Given the description of an element on the screen output the (x, y) to click on. 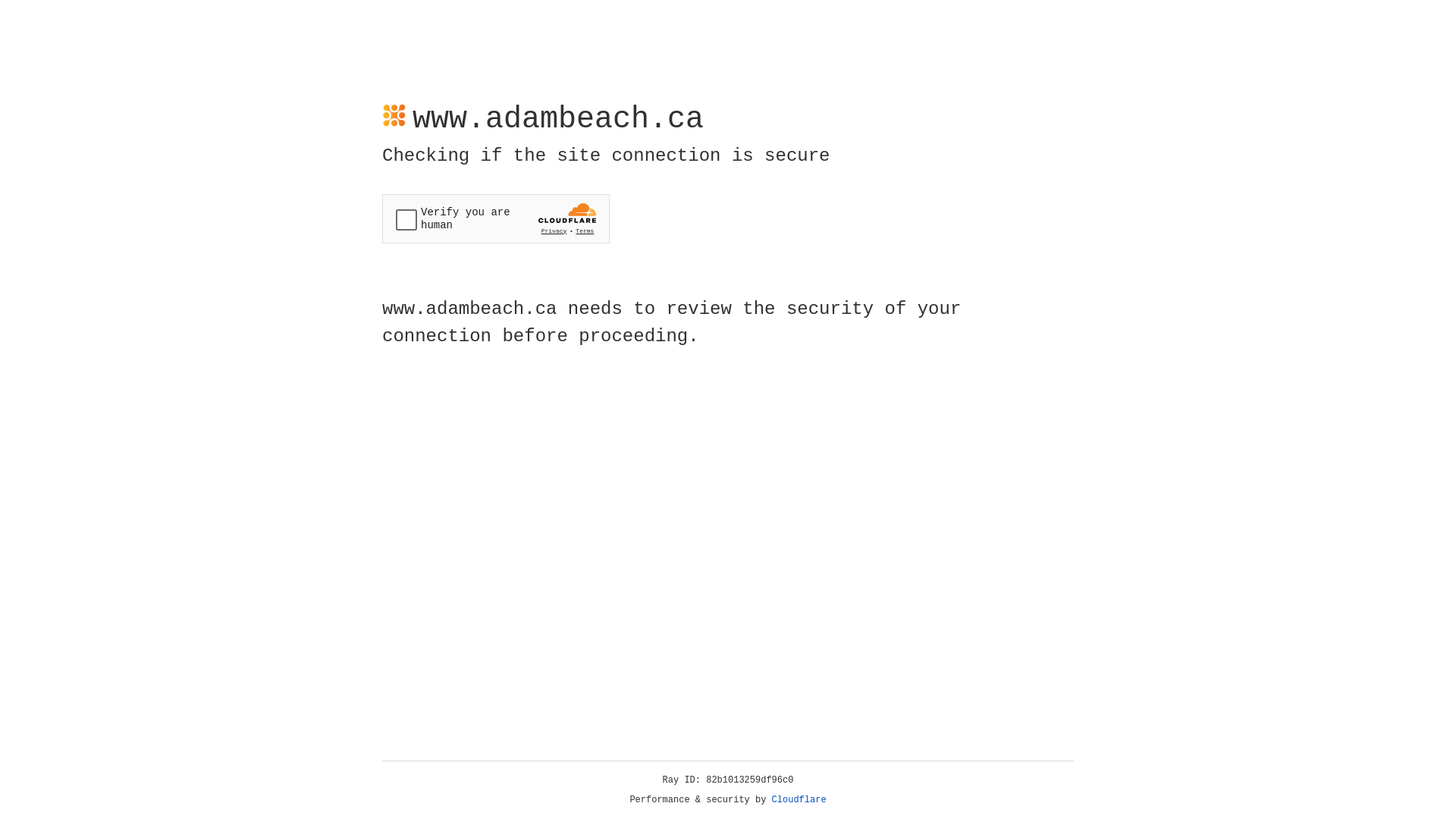
Widget containing a Cloudflare security challenge Element type: hover (495, 218)
Cloudflare Element type: text (798, 799)
